Given the description of an element on the screen output the (x, y) to click on. 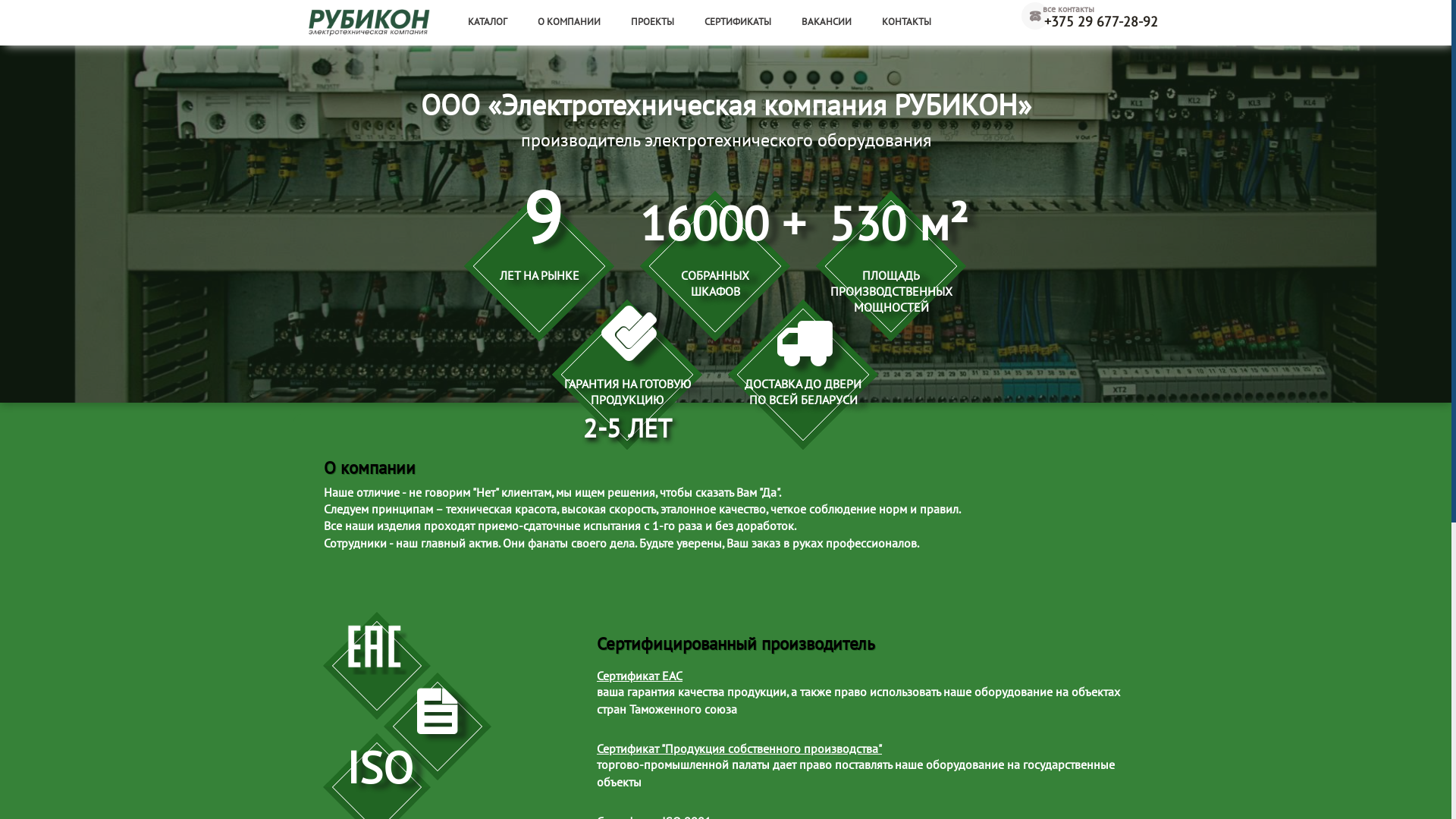
+375 29 677-28-92 Element type: text (1089, 22)
